Given the description of an element on the screen output the (x, y) to click on. 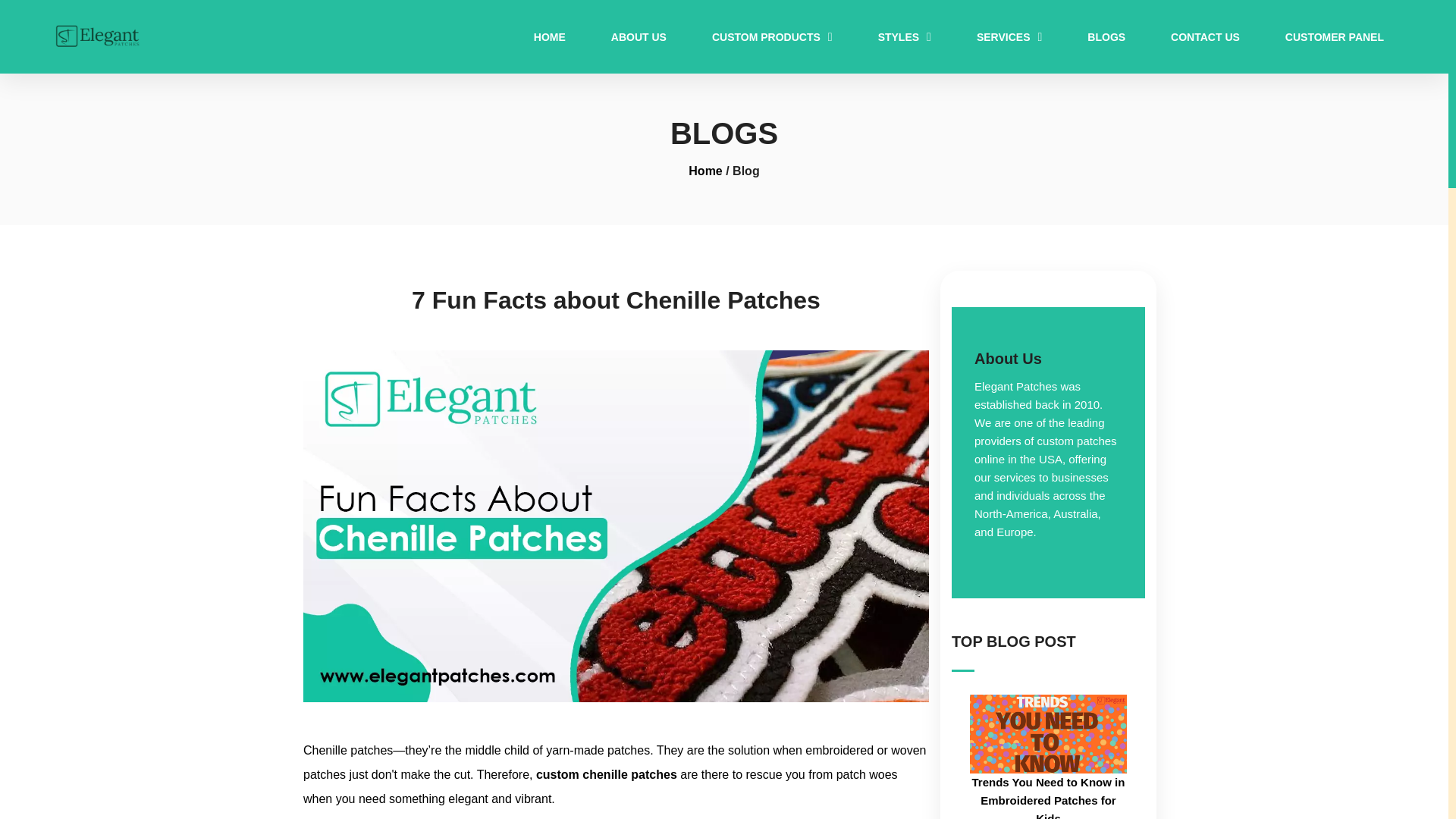
BLOGS (1106, 36)
Home (705, 170)
SERVICES (1009, 37)
custom chenille patches (606, 774)
STYLES (904, 37)
ABOUT US (638, 36)
CUSTOM PRODUCTS (771, 37)
HOME (550, 36)
CUSTOMER PANEL (1334, 36)
CONTACT US (1205, 36)
